Given the description of an element on the screen output the (x, y) to click on. 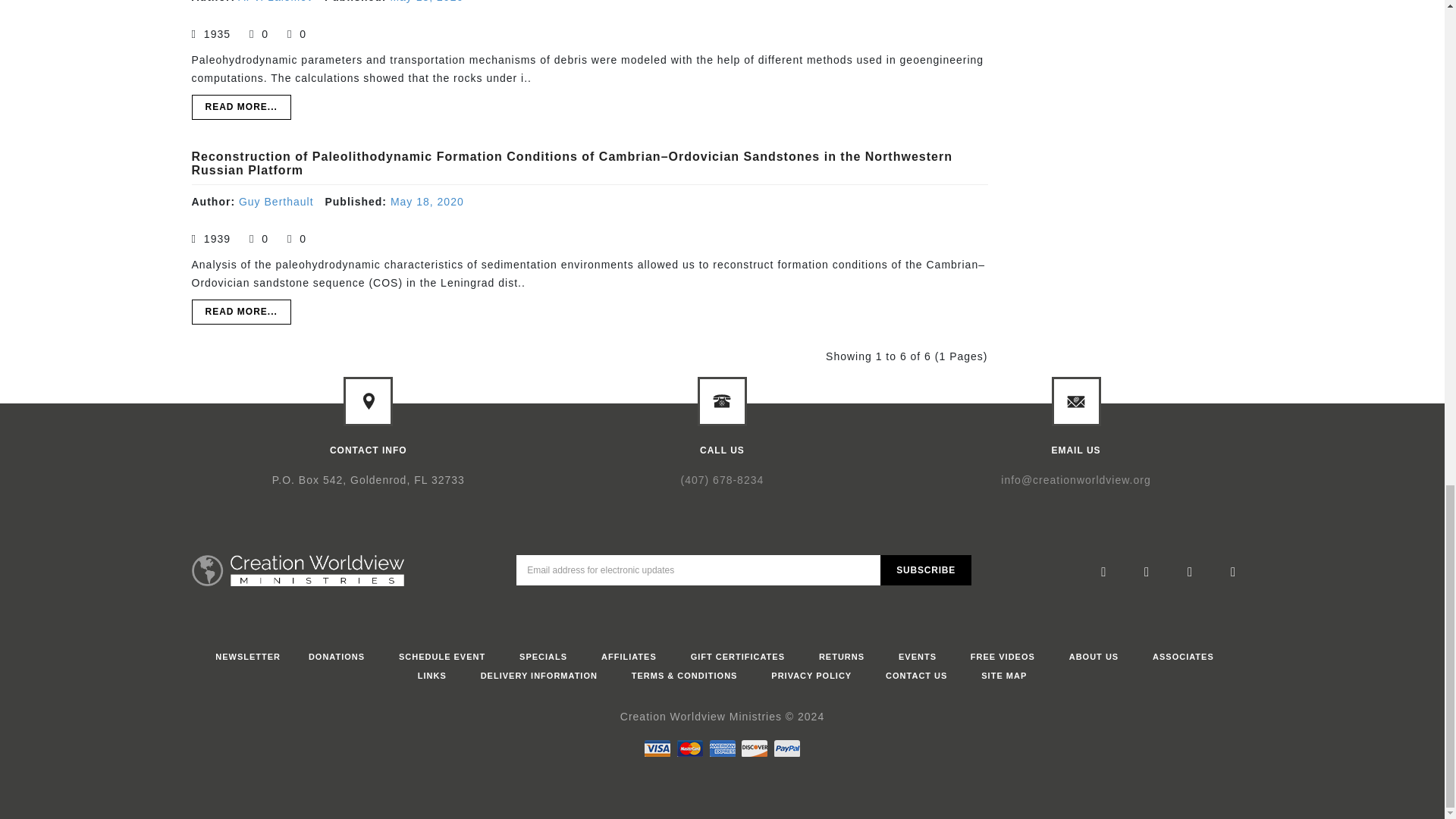
Facebook (1103, 572)
RSS (1233, 572)
Linkedin (1190, 572)
Twitter (1147, 572)
